Given the description of an element on the screen output the (x, y) to click on. 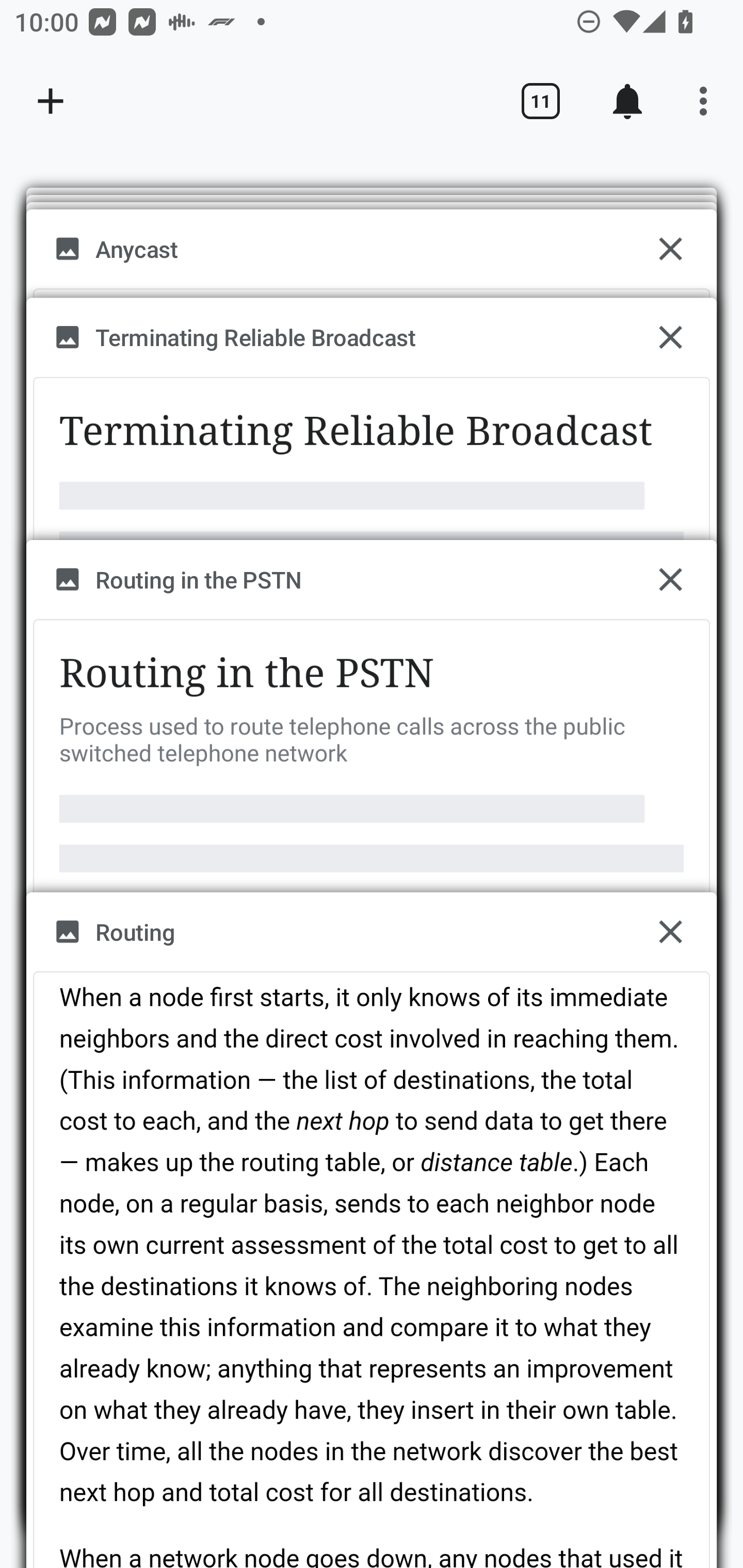
Back 11 (540, 100)
Notifications (626, 100)
New tab (50, 101)
More options (706, 101)
